Given the description of an element on the screen output the (x, y) to click on. 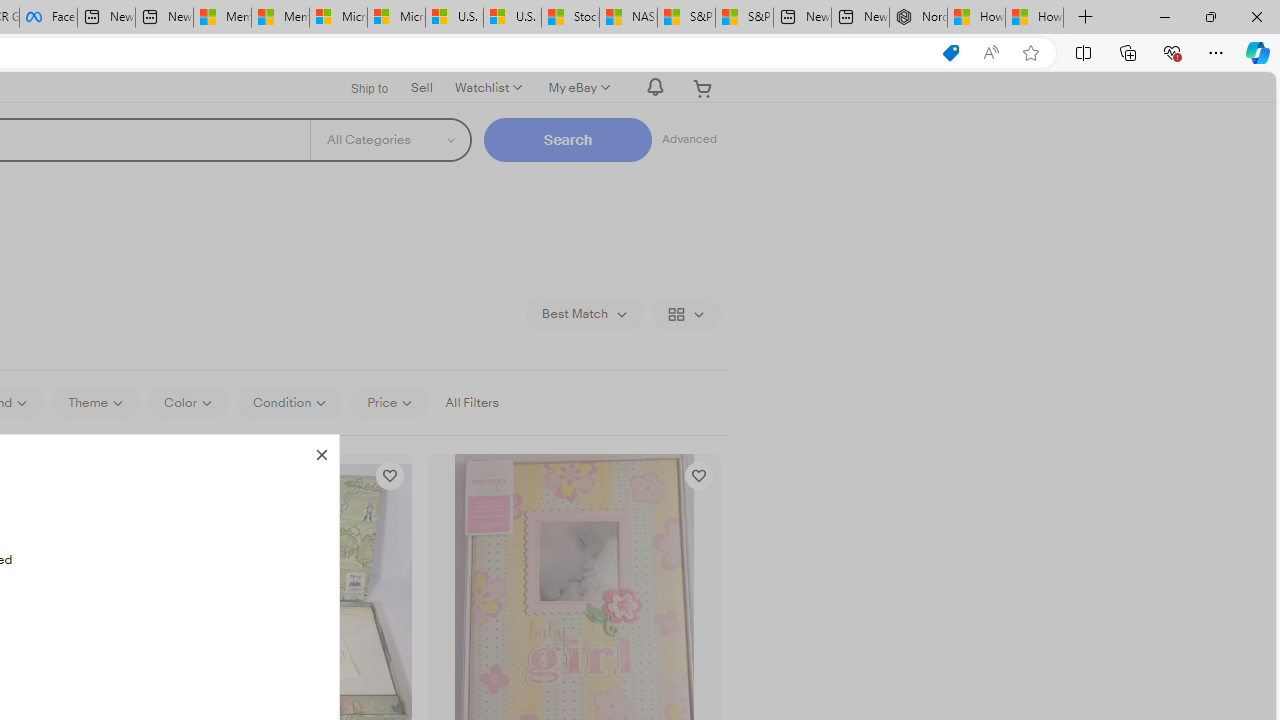
Minimize (1164, 16)
Restore (1210, 16)
Browser essentials (1171, 52)
Add this page to favorites (Ctrl+D) (1030, 53)
Read aloud this page (Ctrl+Shift+U) (991, 53)
Collections (1128, 52)
Copilot (Ctrl+Shift+.) (1258, 52)
This site has coupons! Shopping in Microsoft Edge (950, 53)
Split screen (1083, 52)
Settings and more (Alt+F) (1215, 52)
